Given the description of an element on the screen output the (x, y) to click on. 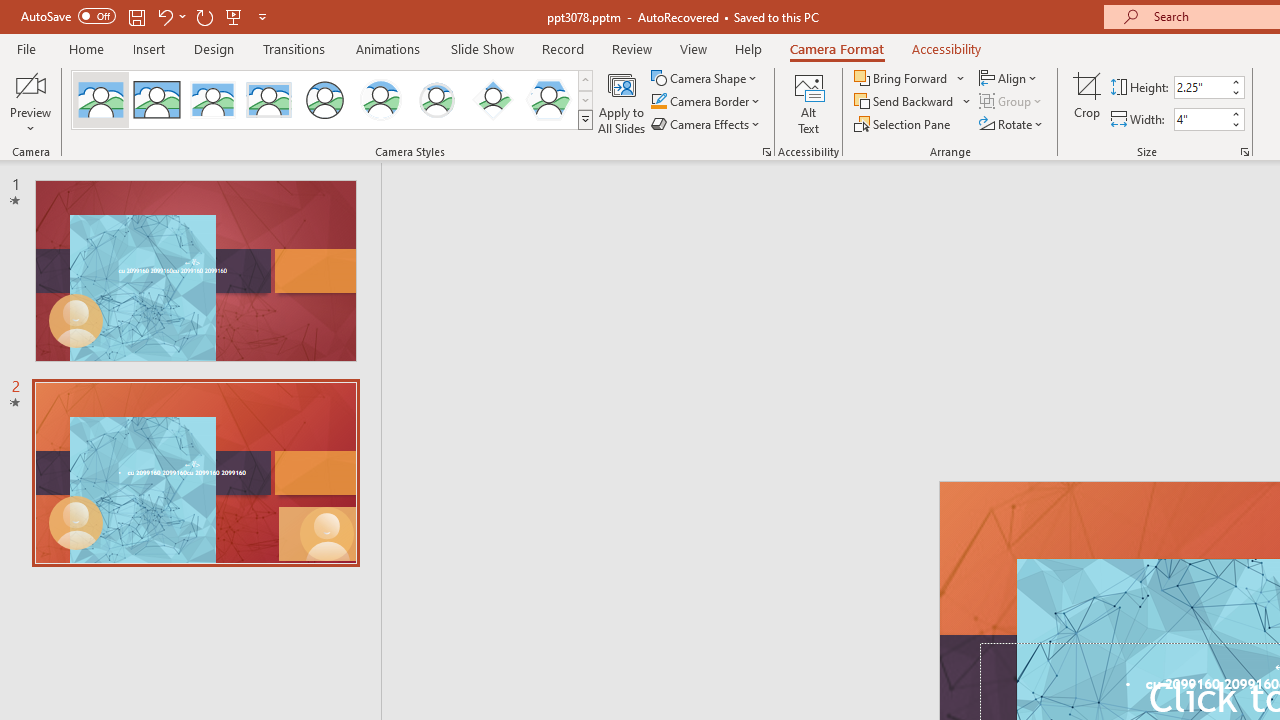
Selection Pane... (904, 124)
Center Shadow Hexagon (548, 100)
Apply to All Slides (621, 102)
